Given the description of an element on the screen output the (x, y) to click on. 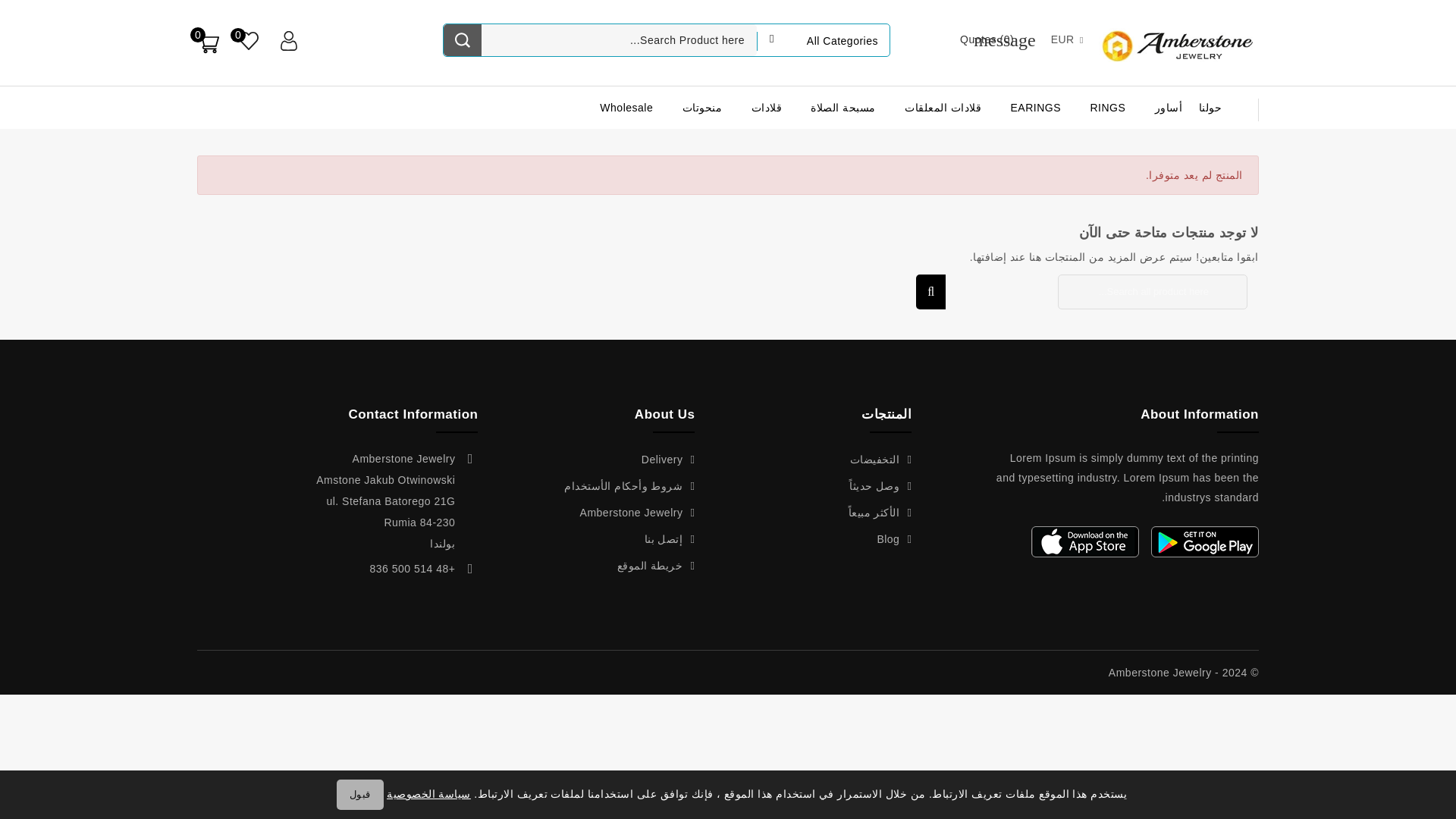
Our special products (881, 459)
Our terms and conditions of use (629, 485)
Search (462, 40)
Lost? Find what your are looking for (656, 565)
All Categories (823, 40)
Our terms and conditions of delivery (668, 459)
